Given the description of an element on the screen output the (x, y) to click on. 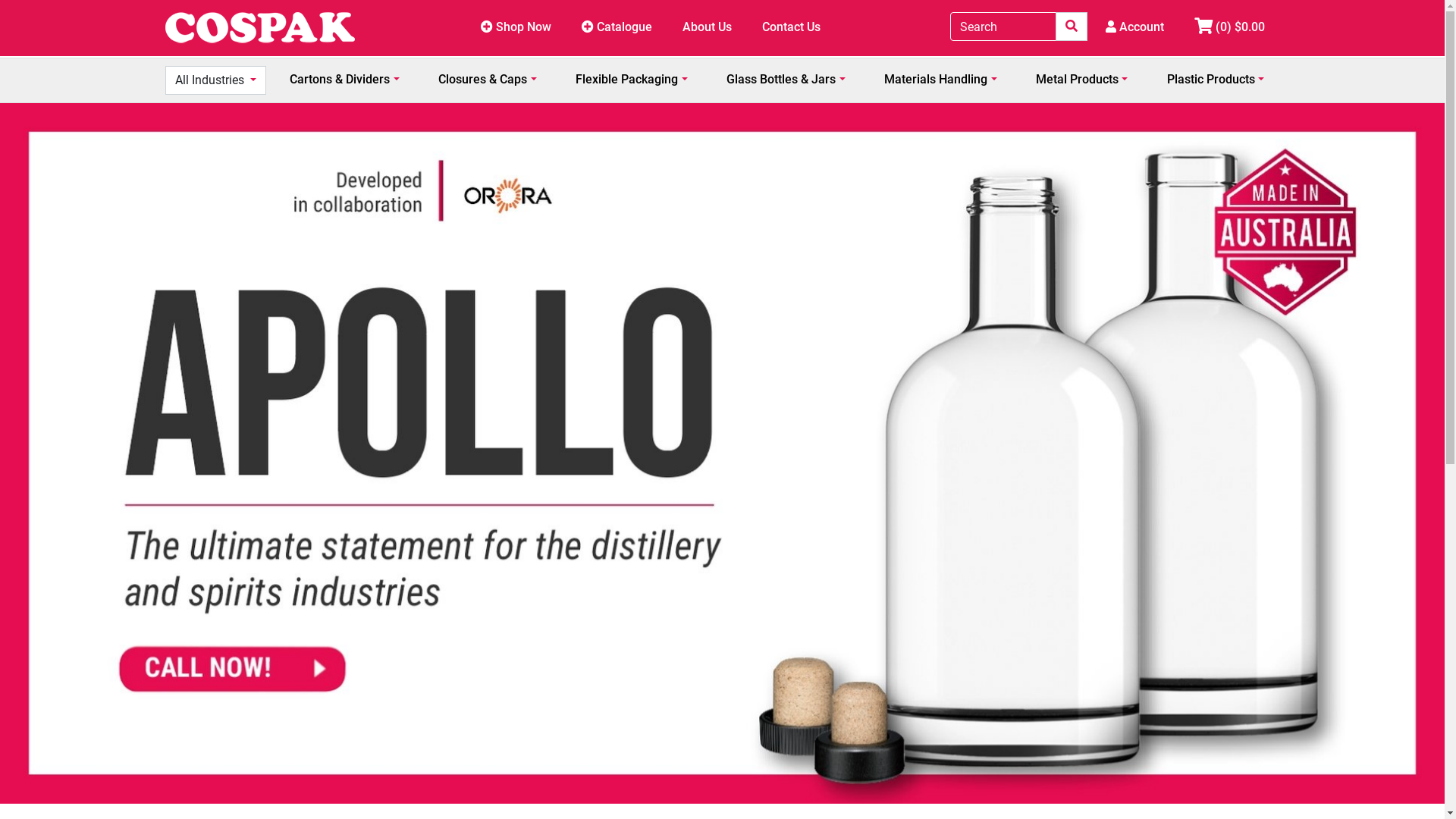
(0) $0.00 Element type: text (1228, 27)
Search Products Element type: hover (1071, 26)
Glass Bottles & Jars Element type: text (785, 80)
Go Element type: text (1071, 26)
Catalogue Element type: text (616, 27)
Next Element type: text (1368, 453)
Contact Us Element type: text (790, 27)
Closures & Caps Element type: text (487, 80)
Materials Handling Element type: text (940, 80)
Metal Products Element type: text (1081, 80)
Cospak Home Element type: hover (259, 27)
Flexible Packaging Element type: text (631, 80)
Cartons & Dividers Element type: text (344, 80)
Shop Now Element type: text (515, 27)
Previous Element type: text (75, 453)
About Us Element type: text (706, 27)
Plastic Products Element type: text (1215, 80)
All Industries Element type: text (215, 79)
Account Element type: text (1134, 27)
